Given the description of an element on the screen output the (x, y) to click on. 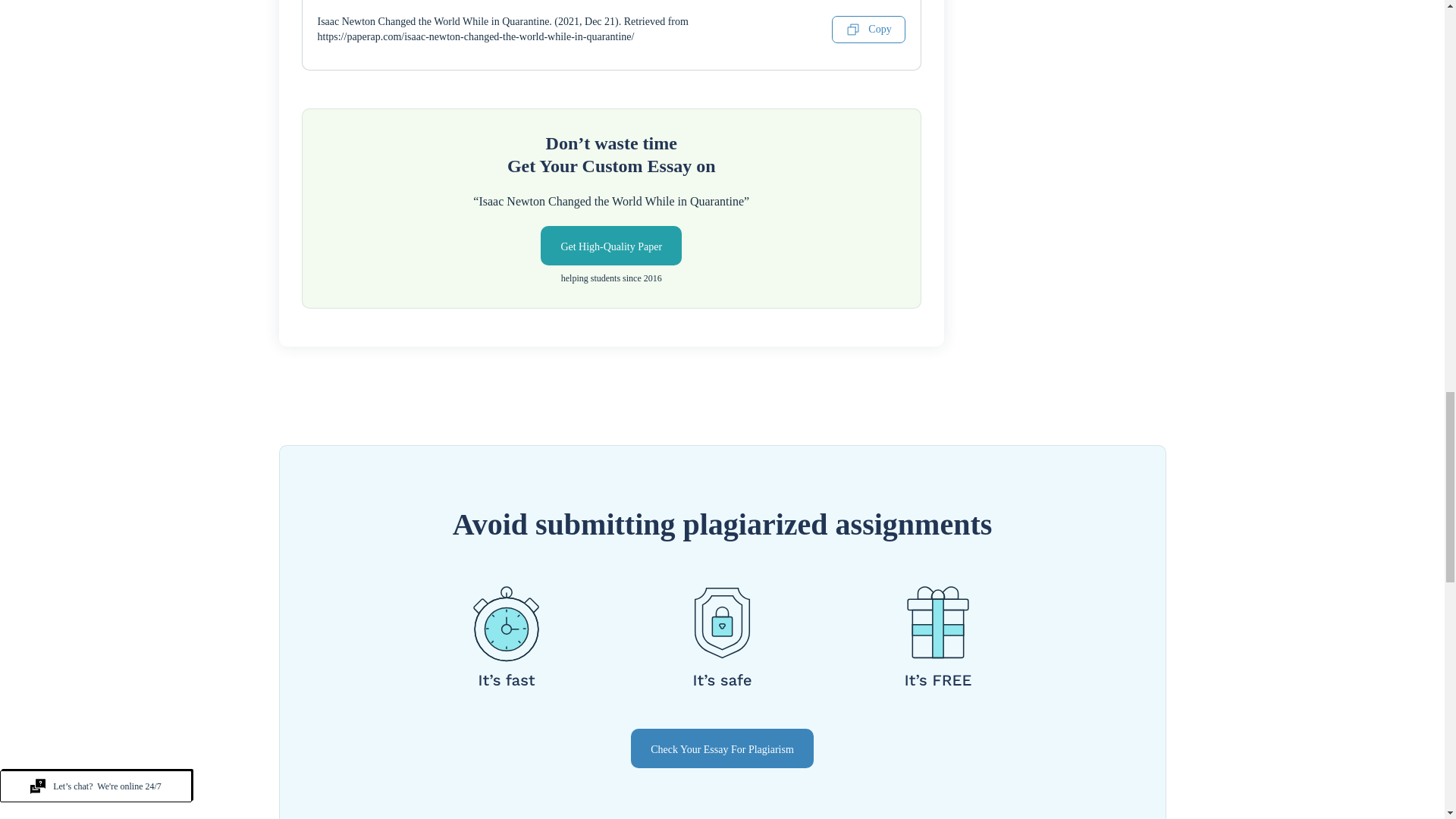
Check Your Essay For Plagiarism (721, 748)
Get High-Quality Paper (610, 245)
Copy (868, 29)
